Given the description of an element on the screen output the (x, y) to click on. 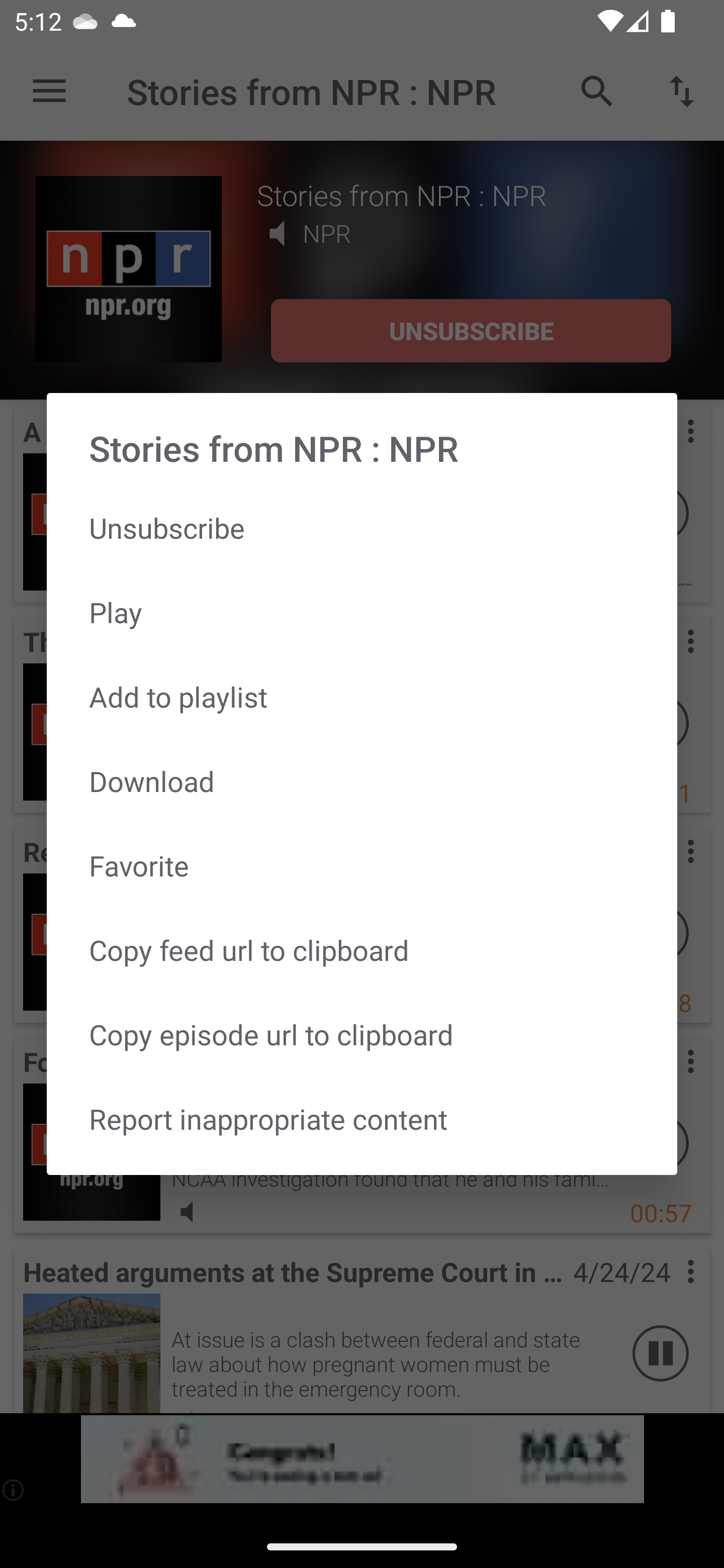
Unsubscribe (361, 527)
Play (361, 611)
Add to playlist (361, 695)
Download (361, 780)
Favorite (361, 865)
Copy feed url to clipboard (361, 949)
Copy episode url to clipboard (361, 1034)
Report inappropriate content (361, 1118)
